Given the description of an element on the screen output the (x, y) to click on. 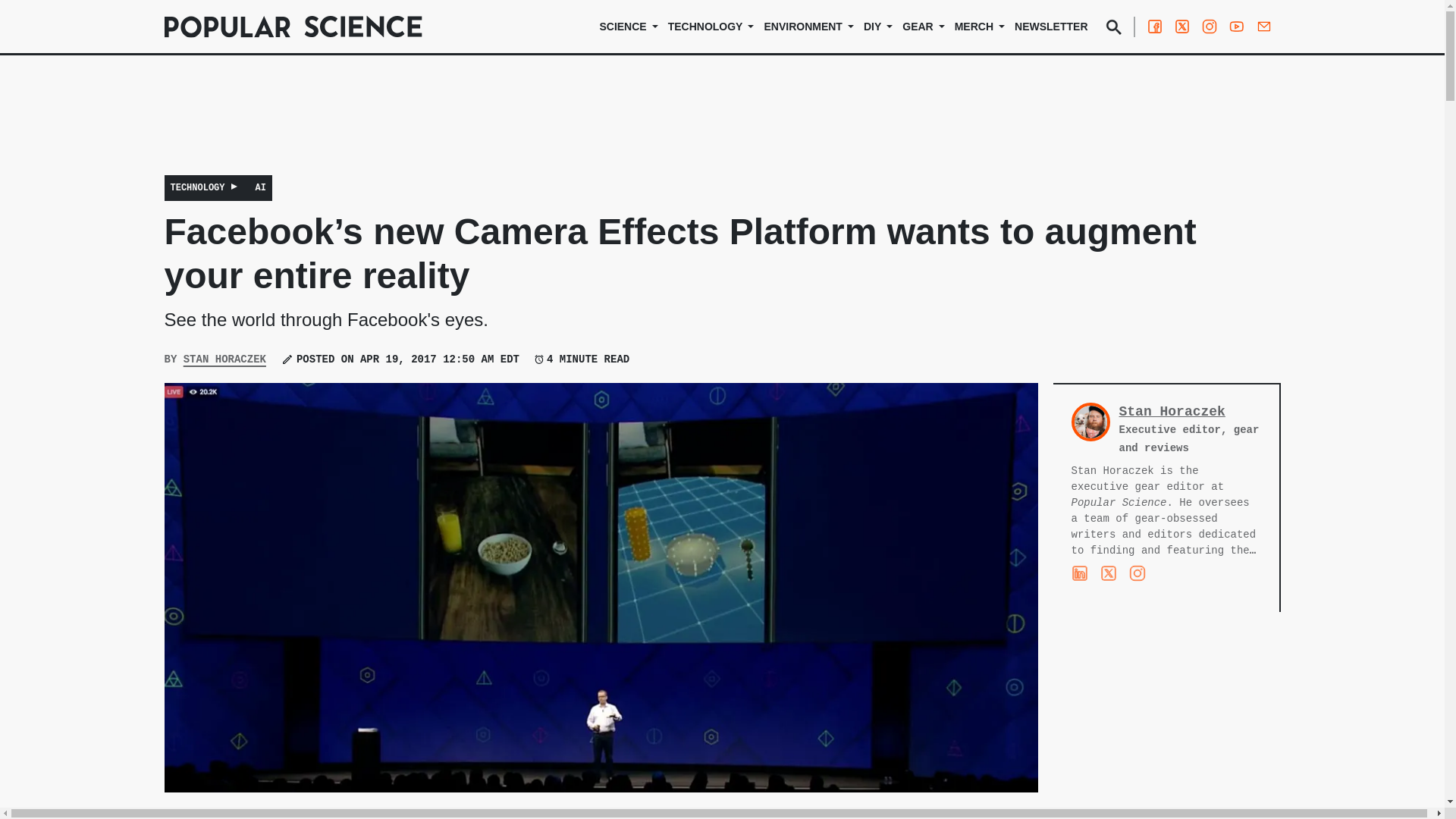
3rd party ad content (721, 125)
3rd party ad content (1165, 730)
